Given the description of an element on the screen output the (x, y) to click on. 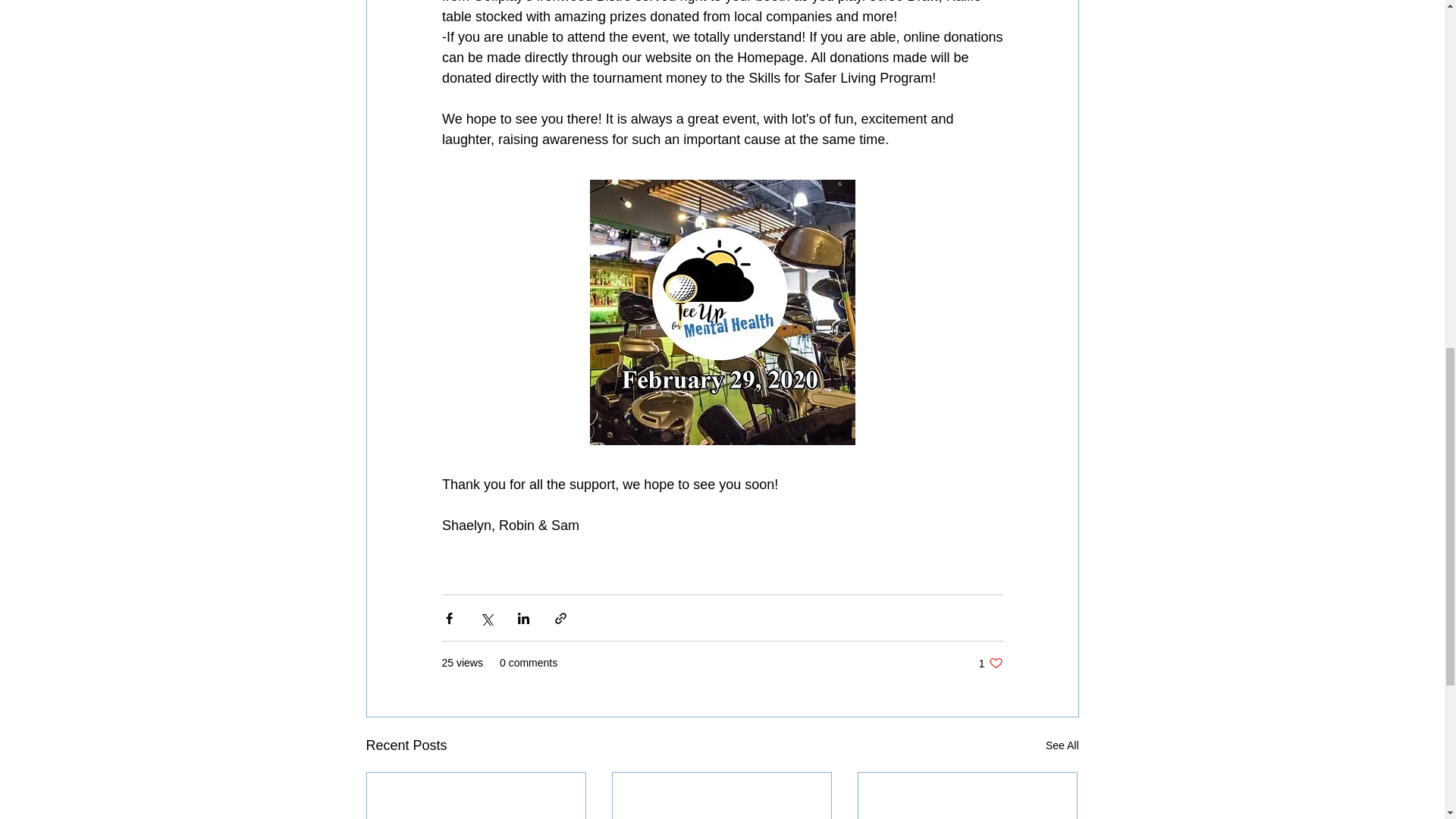
See All (990, 663)
